Given the description of an element on the screen output the (x, y) to click on. 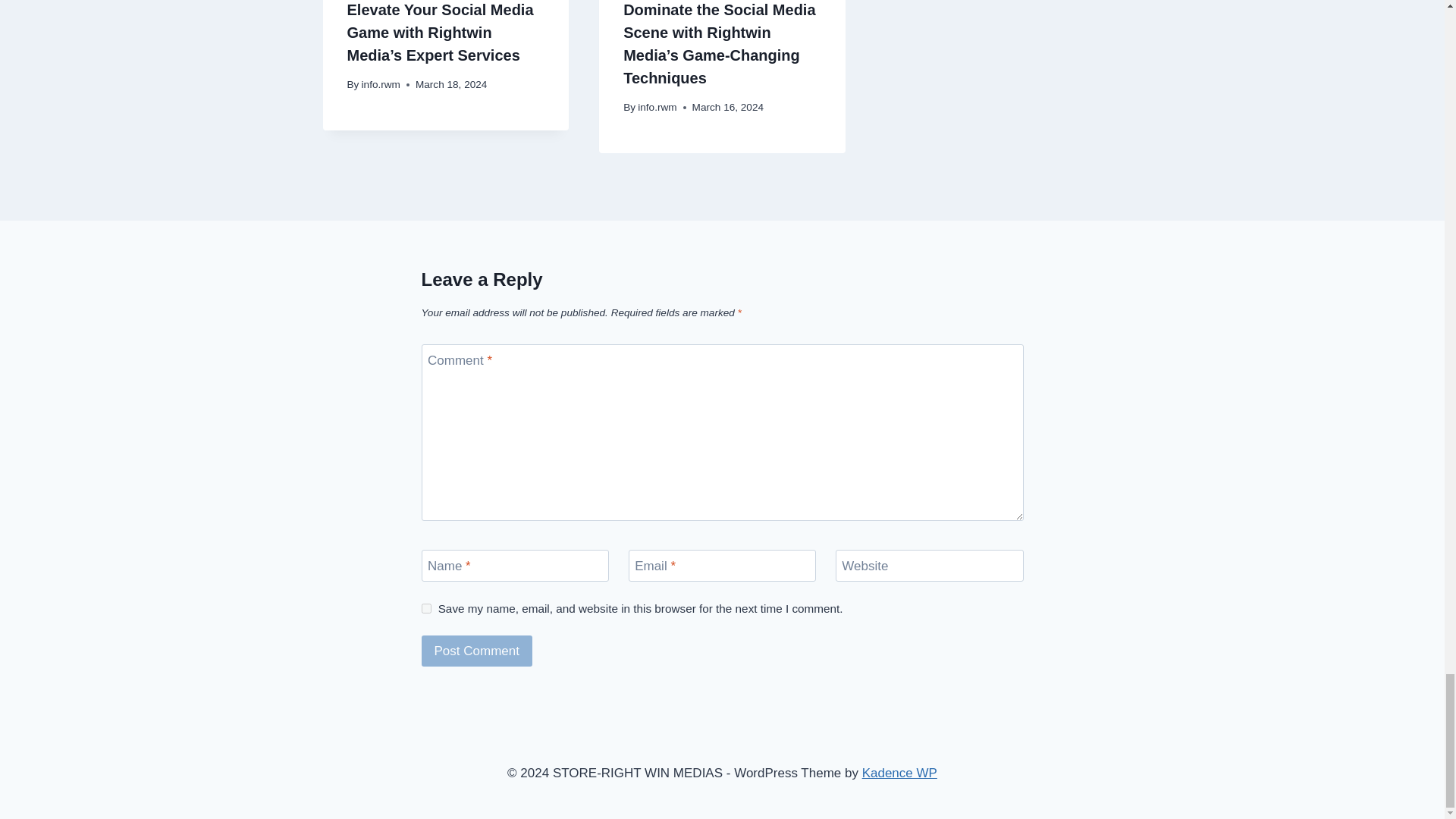
Post Comment (477, 650)
yes (426, 608)
info.rwm (380, 84)
